Given the description of an element on the screen output the (x, y) to click on. 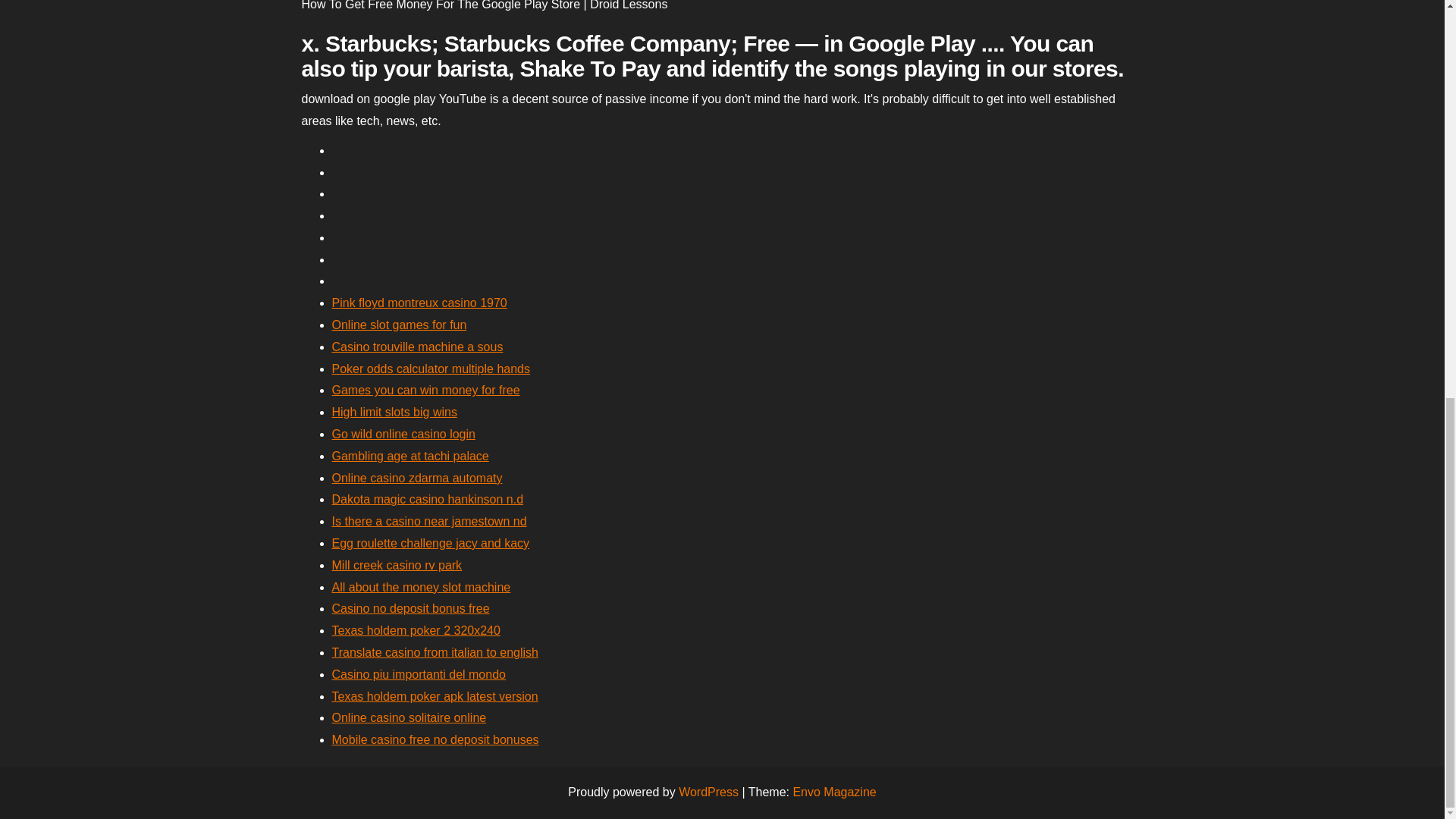
High limit slots big wins (394, 411)
Gambling age at tachi palace (410, 455)
Mill creek casino rv park (397, 564)
WordPress (708, 791)
Dakota magic casino hankinson n.d (427, 499)
Mobile casino free no deposit bonuses (434, 739)
Casino no deposit bonus free (410, 608)
Envo Magazine (834, 791)
Texas holdem poker 2 320x240 (415, 630)
Pink floyd montreux casino 1970 (418, 302)
